Given the description of an element on the screen output the (x, y) to click on. 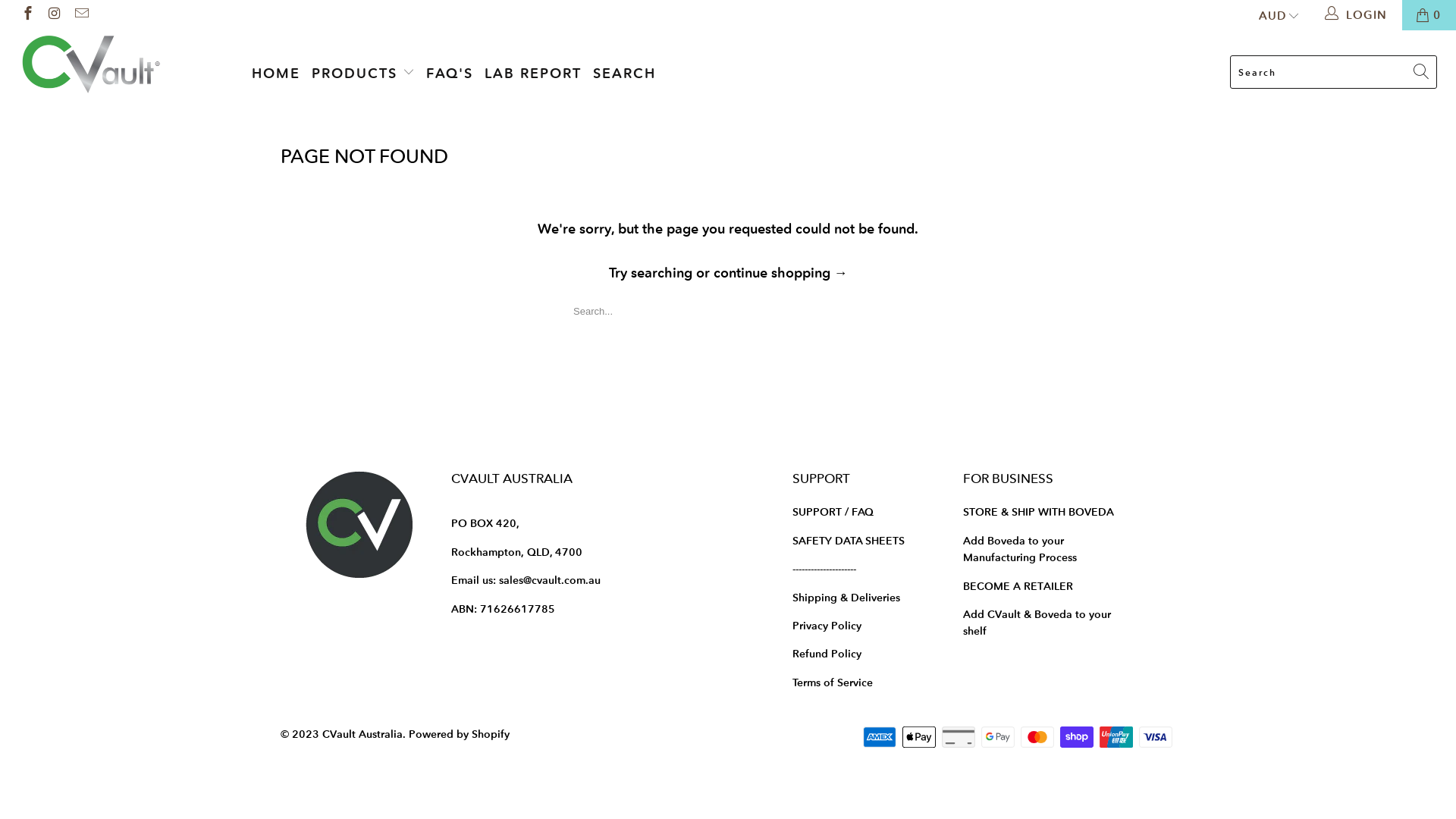
Refund Policy Element type: text (826, 653)
HOME Element type: text (275, 73)
SEARCH Element type: text (624, 73)
Privacy Policy Element type: text (826, 625)
Email CVault Australia Element type: hover (80, 14)
Powered by Shopify Element type: text (458, 733)
Terms of Service Element type: text (832, 682)
CVault Australia Element type: hover (123, 64)
LAB REPORT Element type: text (532, 73)
PRODUCTS Element type: text (362, 73)
FAQ'S Element type: text (449, 73)
CVault Australia Element type: text (362, 733)
STORE & SHIP WITH BOVEDA  Element type: text (1040, 511)
Shipping & Deliveries Element type: text (846, 597)
CVault Australia on Facebook Element type: hover (26, 14)
CVault Australia on Instagram Element type: hover (54, 14)
SUPPORT / FAQ Element type: text (832, 511)
LOGIN Element type: text (1357, 15)
SAFETY DATA SHEETS Element type: text (848, 540)
